Given the description of an element on the screen output the (x, y) to click on. 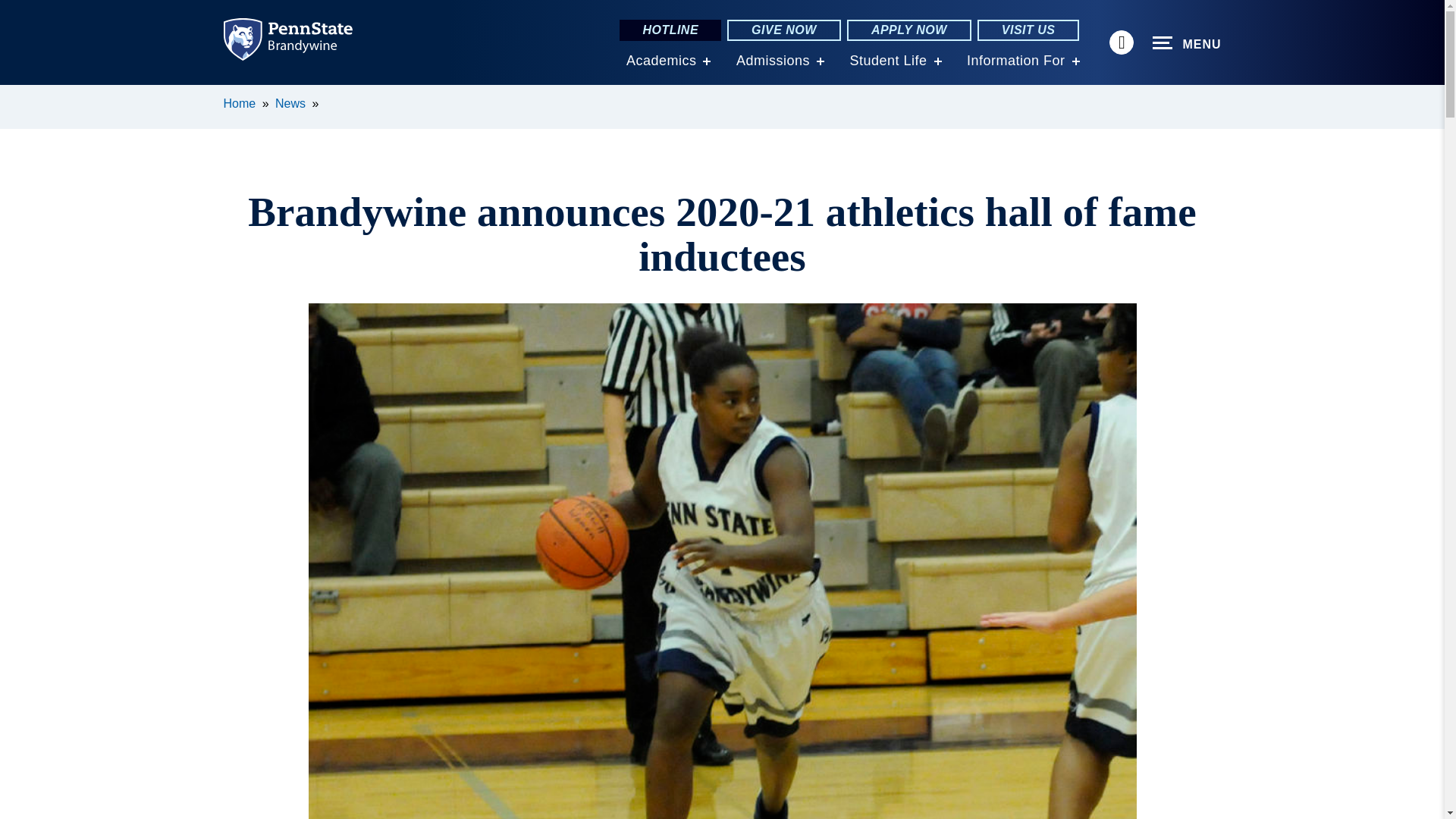
Academics (661, 60)
Academics (661, 60)
VISIT US (1028, 29)
GIVE NOW (783, 29)
Admissions (772, 60)
MENU (1187, 43)
APPLY NOW (909, 29)
Student Life (887, 60)
SKIP TO MAIN CONTENT (19, 95)
HOTLINE (670, 29)
Admissions (772, 60)
